Given the description of an element on the screen output the (x, y) to click on. 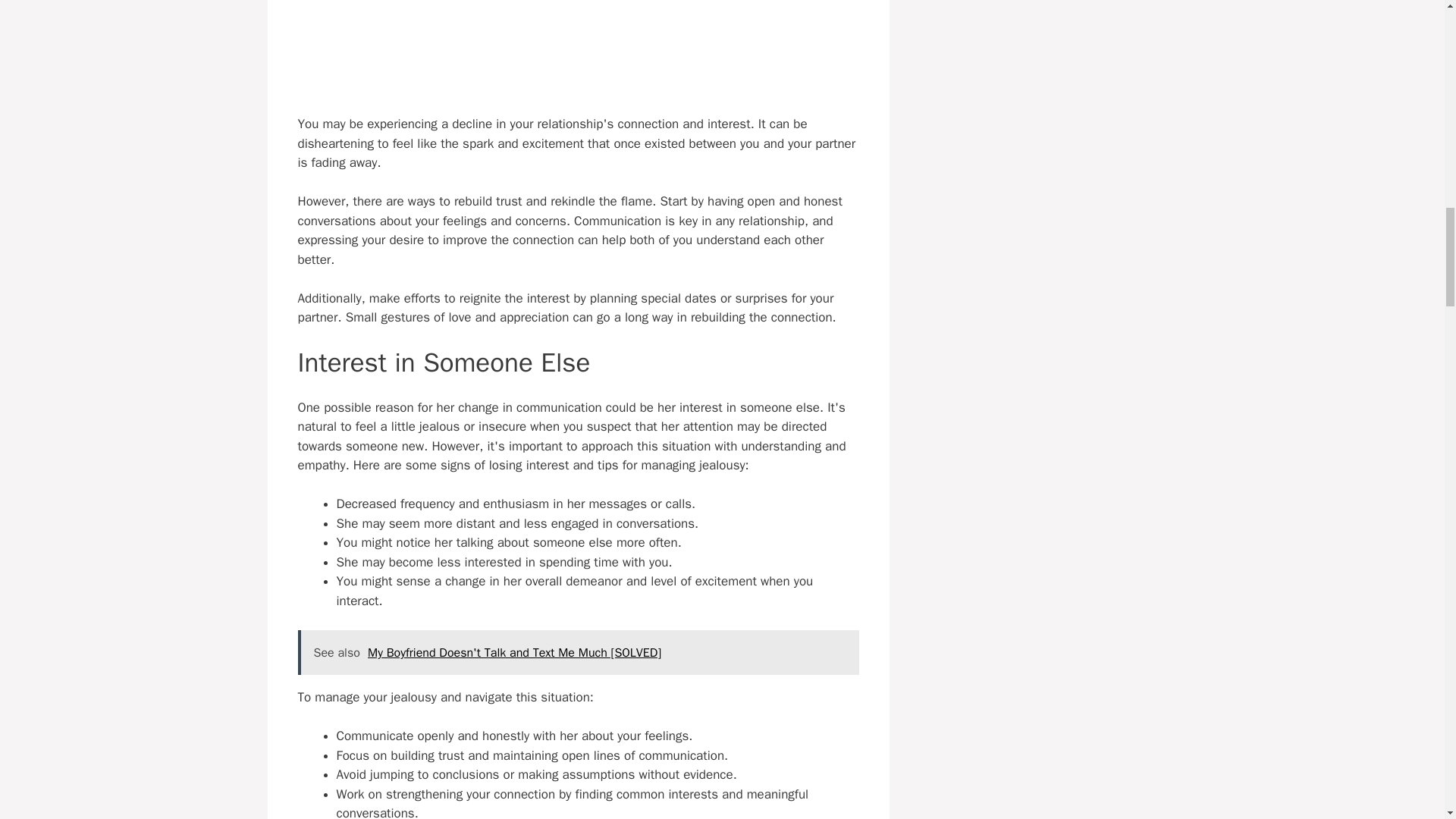
YouTube video player (578, 49)
